Given the description of an element on the screen output the (x, y) to click on. 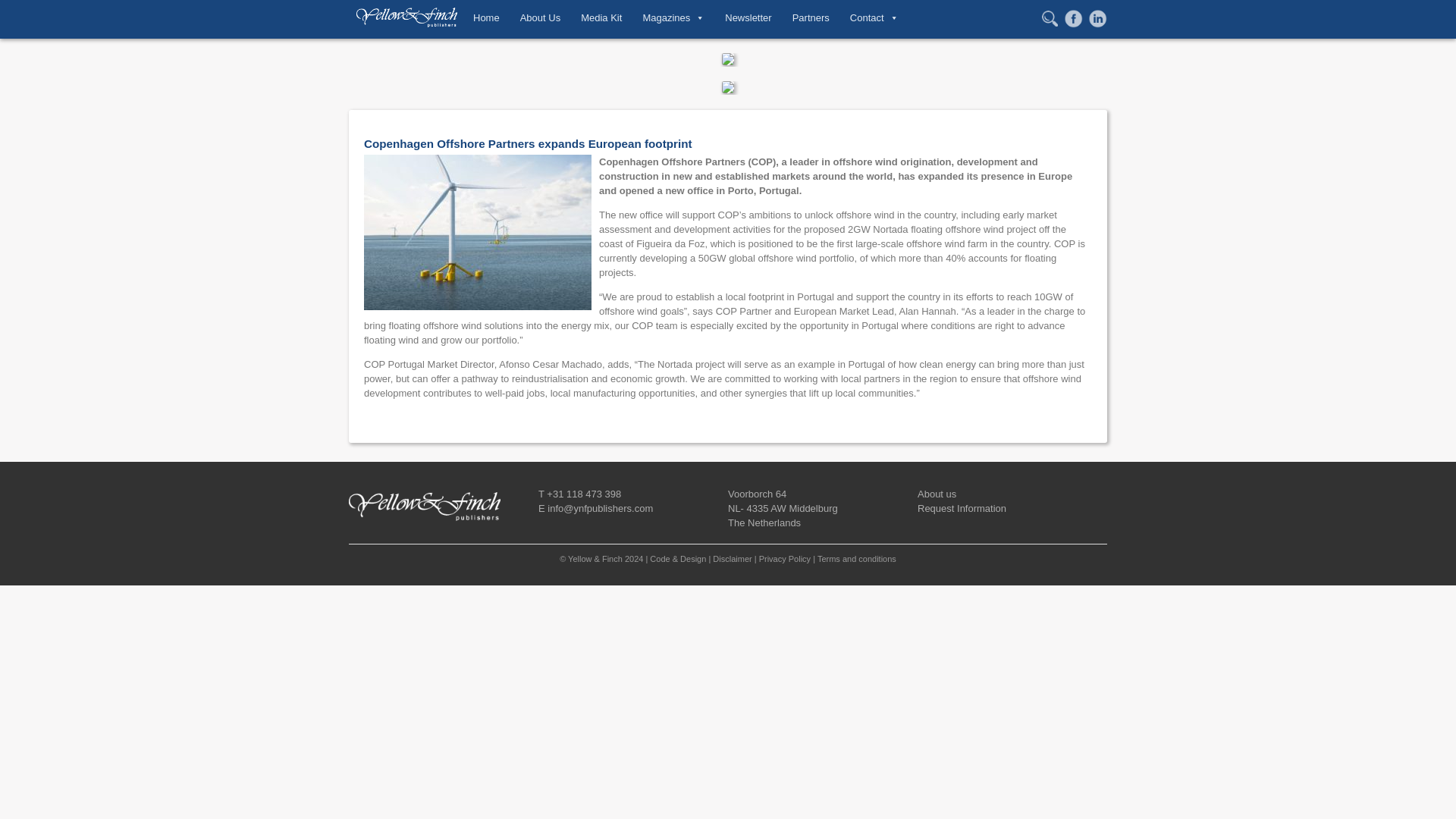
Terms and conditions (856, 558)
Request Information (961, 508)
Partners (811, 16)
Newsletter (747, 16)
Contact (874, 16)
Disclaimer (732, 558)
Magazines (673, 16)
About Us (540, 16)
About us (936, 493)
Privacy Policy (784, 558)
Home (486, 16)
Media Kit (601, 16)
